Given the description of an element on the screen output the (x, y) to click on. 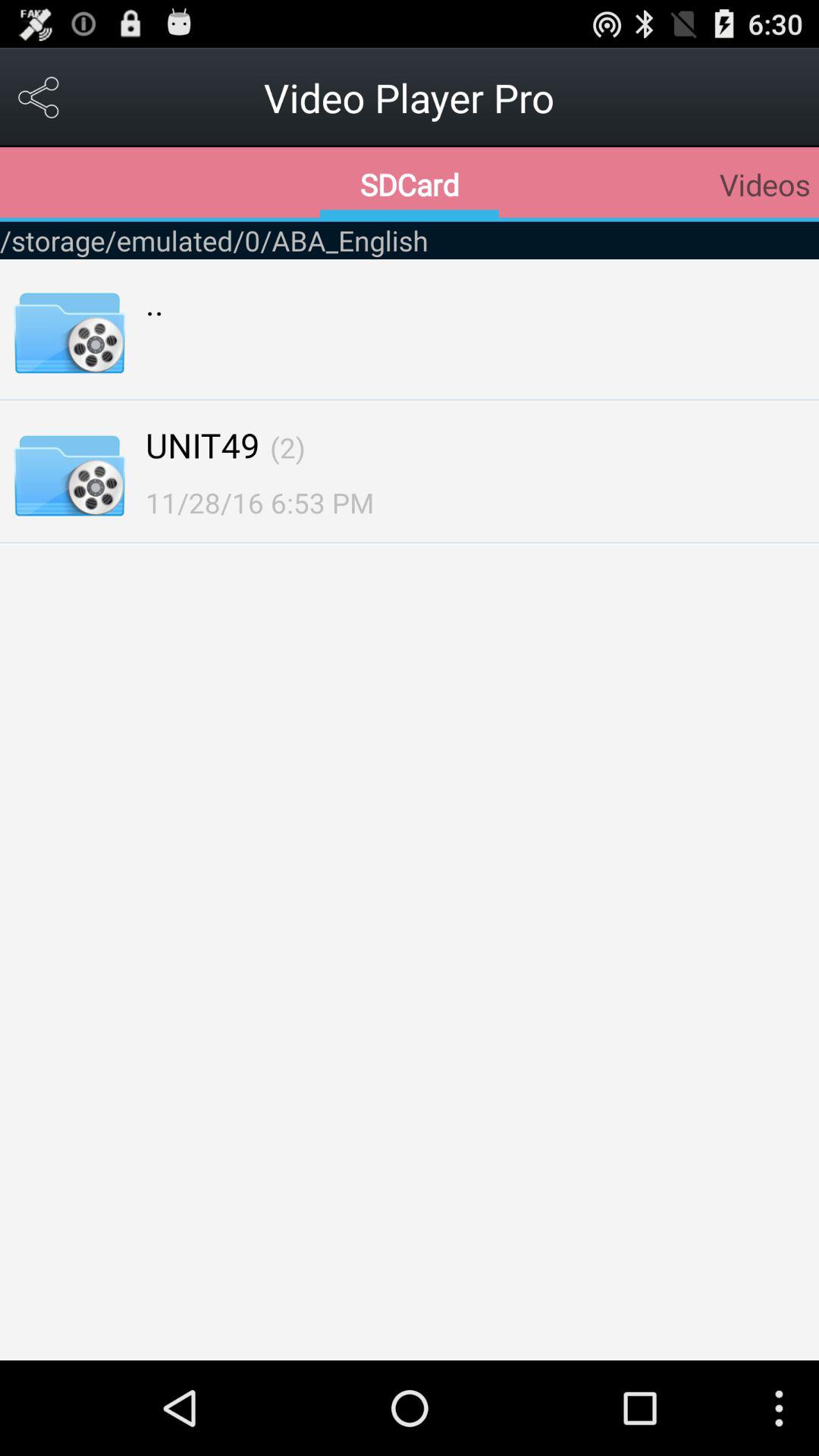
press the item next to the (2) app (202, 445)
